Given the description of an element on the screen output the (x, y) to click on. 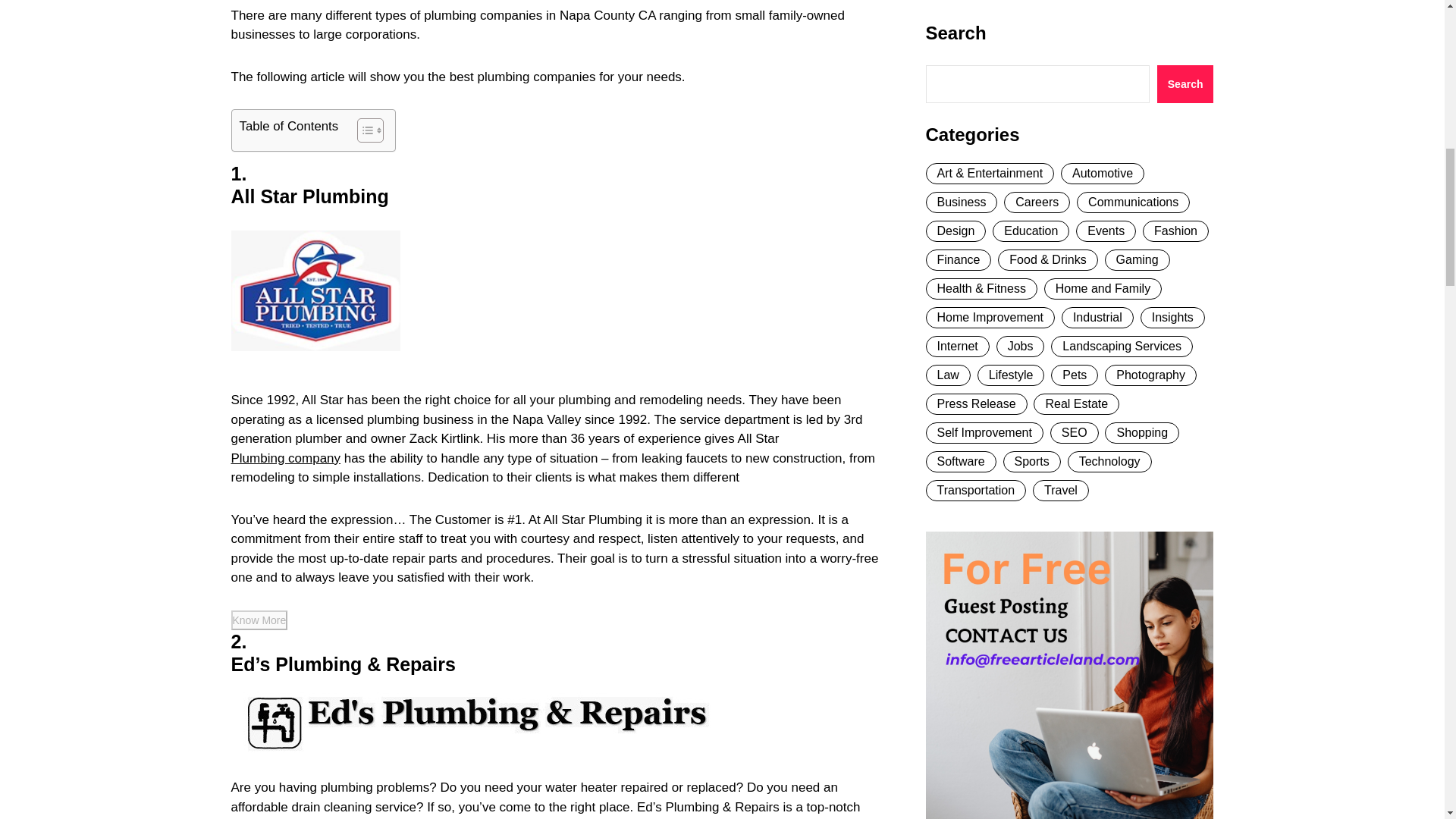
Eds Plumbing Logo (478, 720)
All Star Plumbing Logo (314, 290)
